Given the description of an element on the screen output the (x, y) to click on. 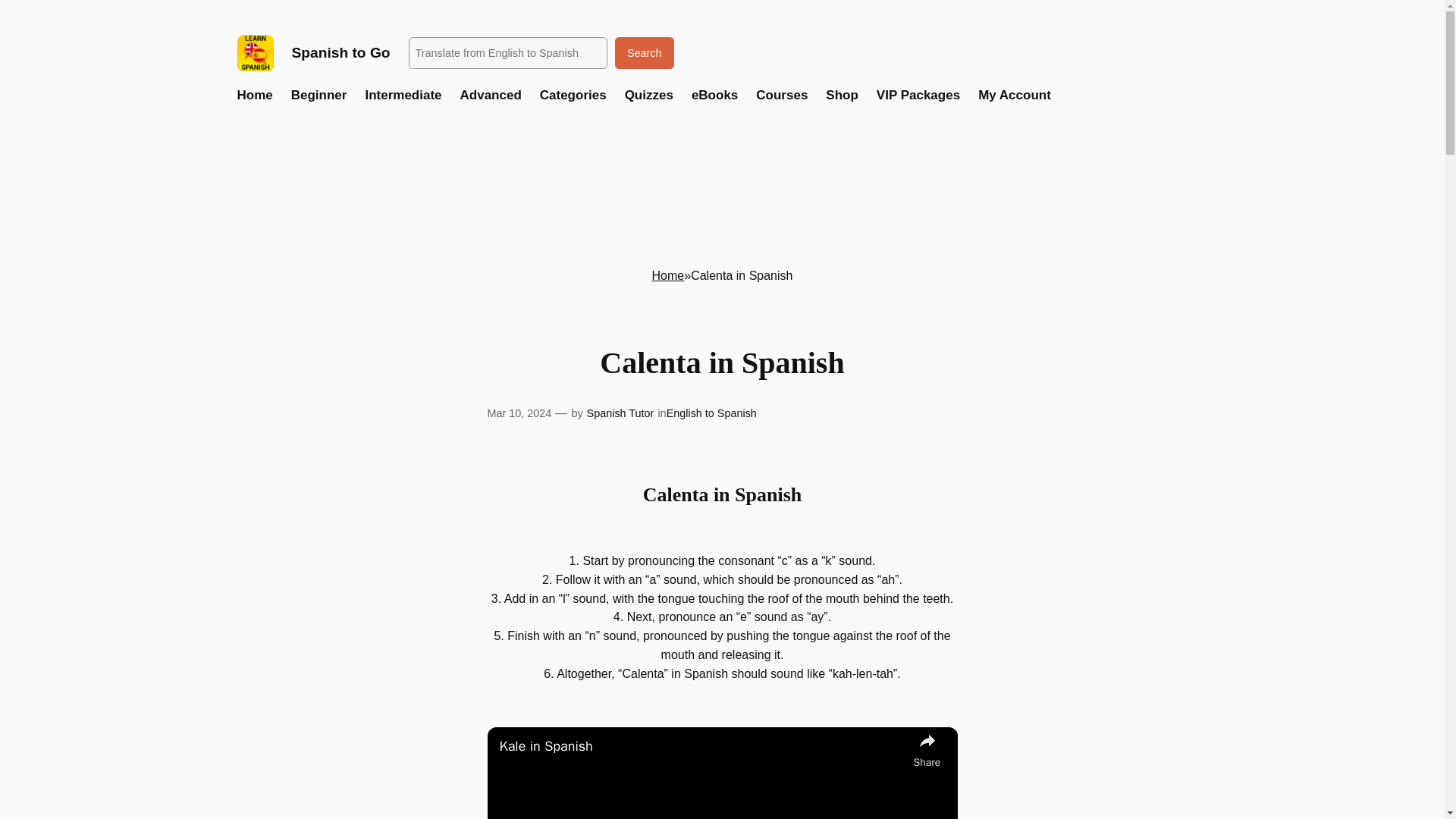
VIP Packages (917, 95)
Advanced (490, 95)
English to Spanish (711, 413)
Courses (781, 95)
Categories (573, 95)
Home (668, 275)
My Account (1014, 95)
Mar 10, 2024 (518, 413)
Spanish to Go (340, 52)
Beginner (319, 95)
eBooks (714, 95)
Shop (842, 95)
Home (253, 95)
Quizzes (648, 95)
